Given the description of an element on the screen output the (x, y) to click on. 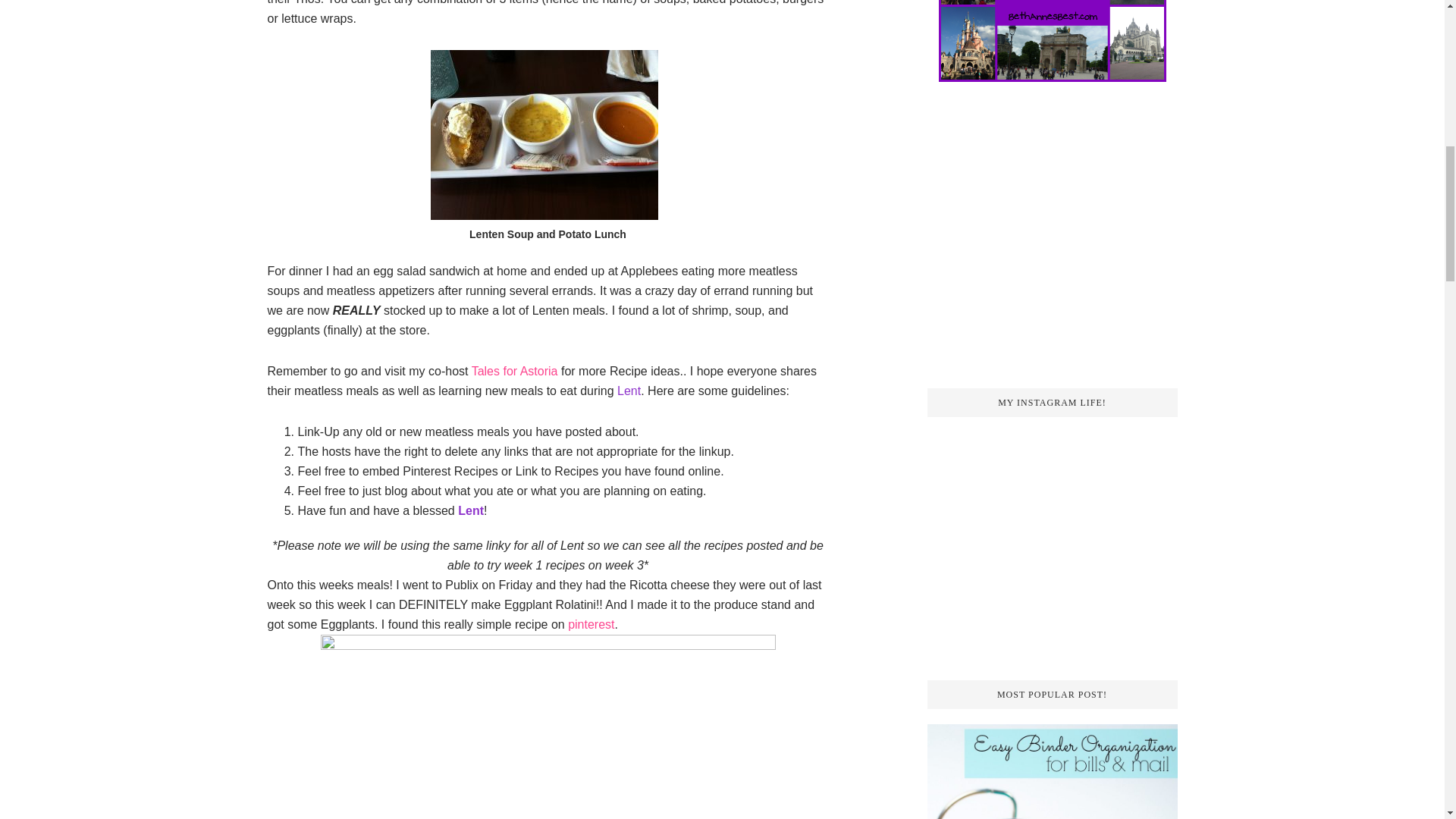
Instagram Widget (1051, 534)
Tales for Astoria (514, 370)
pinterest (590, 624)
2013-02-22 13.02.51 (544, 134)
